Given the description of an element on the screen output the (x, y) to click on. 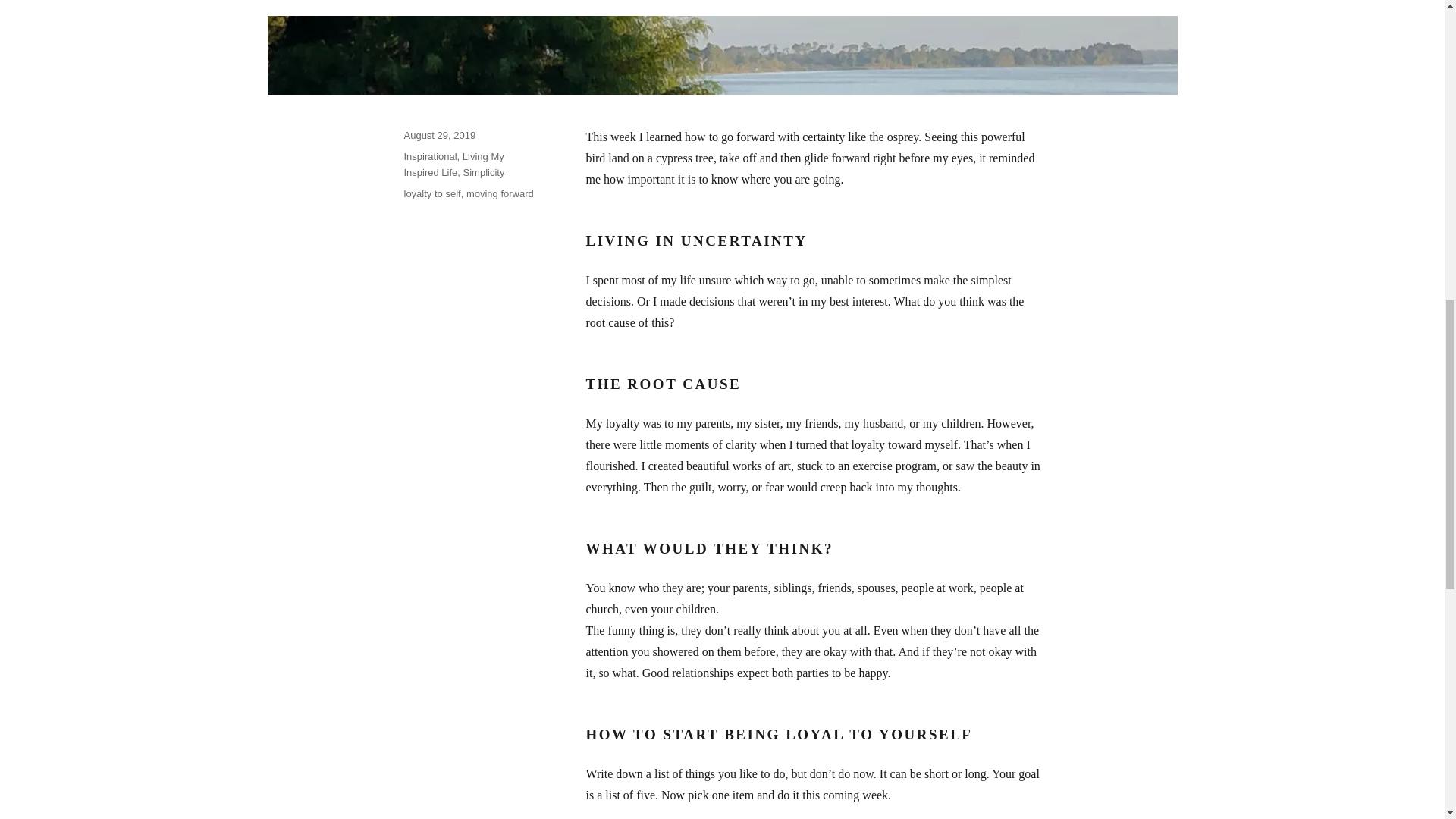
moving forward (499, 193)
Living My Inspired Life (453, 164)
Simplicity (484, 172)
loyalty to self (431, 193)
August 29, 2019 (439, 134)
Inspirational (430, 156)
